Given the description of an element on the screen output the (x, y) to click on. 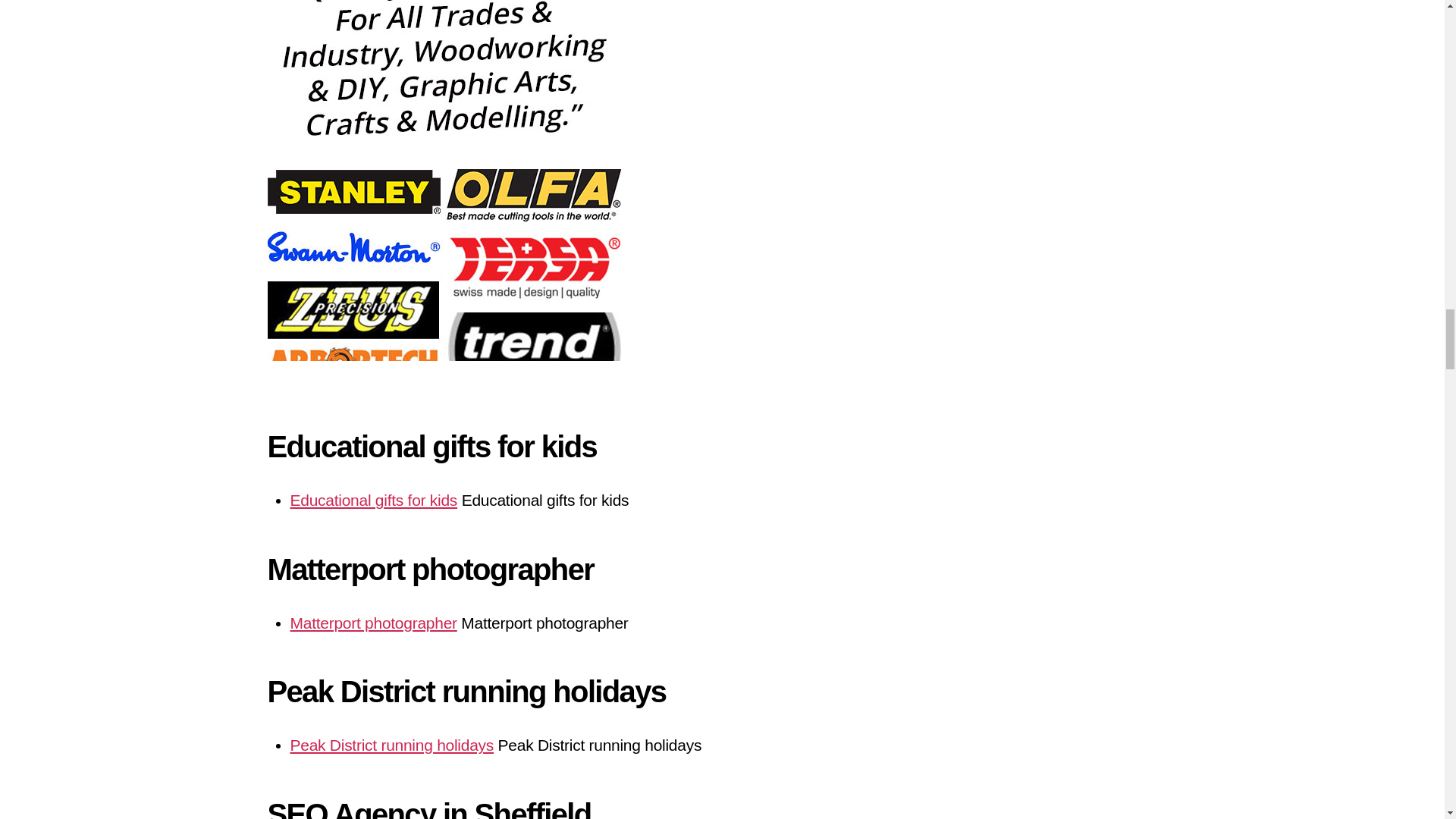
Matterport photographer (373, 622)
Educational gifts for kids (373, 499)
Peak District running holidays (391, 744)
Educational gifts for kids (373, 499)
Matterport photographer (373, 622)
